Given the description of an element on the screen output the (x, y) to click on. 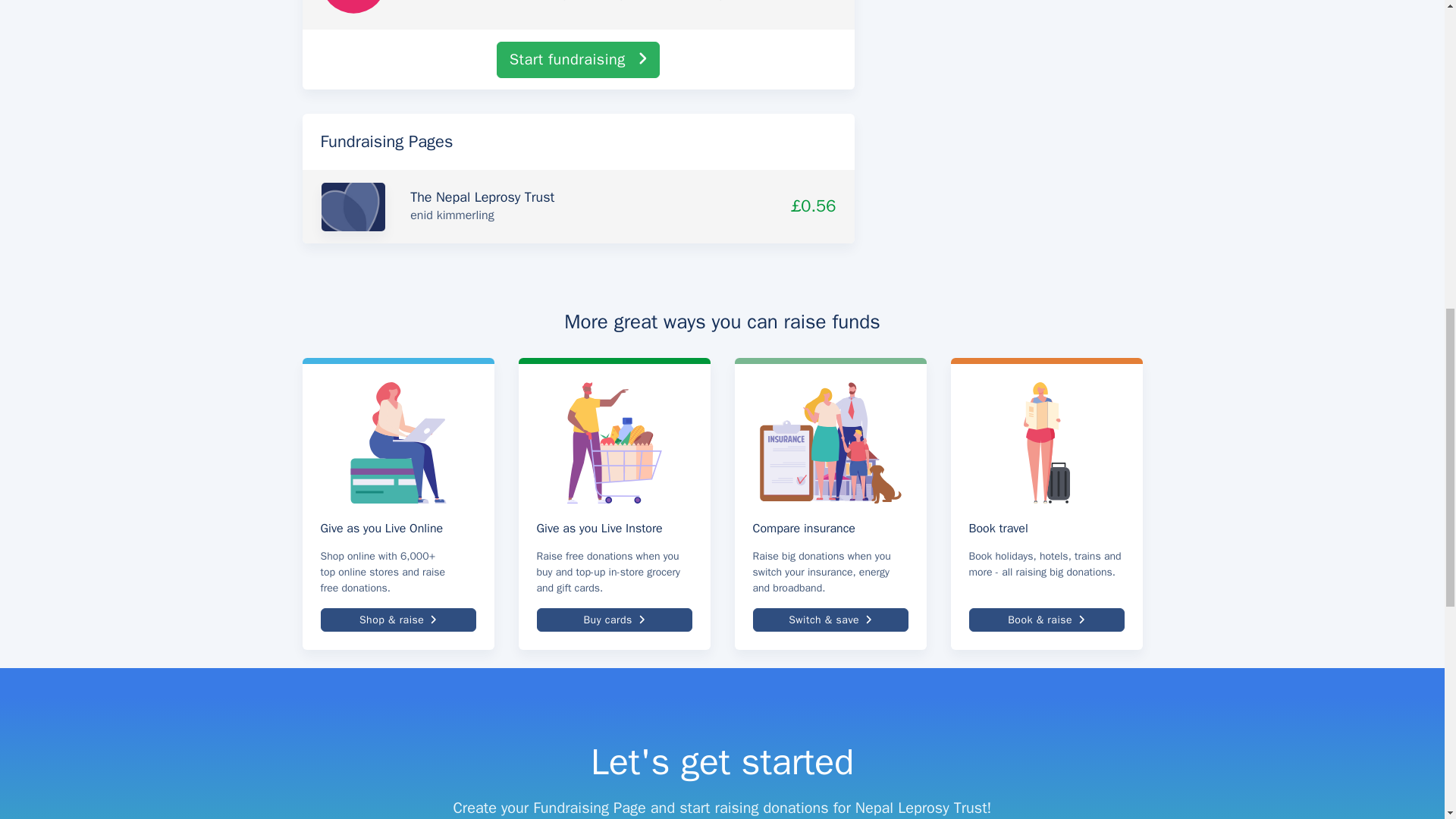
Buy cards (615, 619)
The Nepal Leprosy Trust (482, 197)
Start fundraising (578, 59)
